Given the description of an element on the screen output the (x, y) to click on. 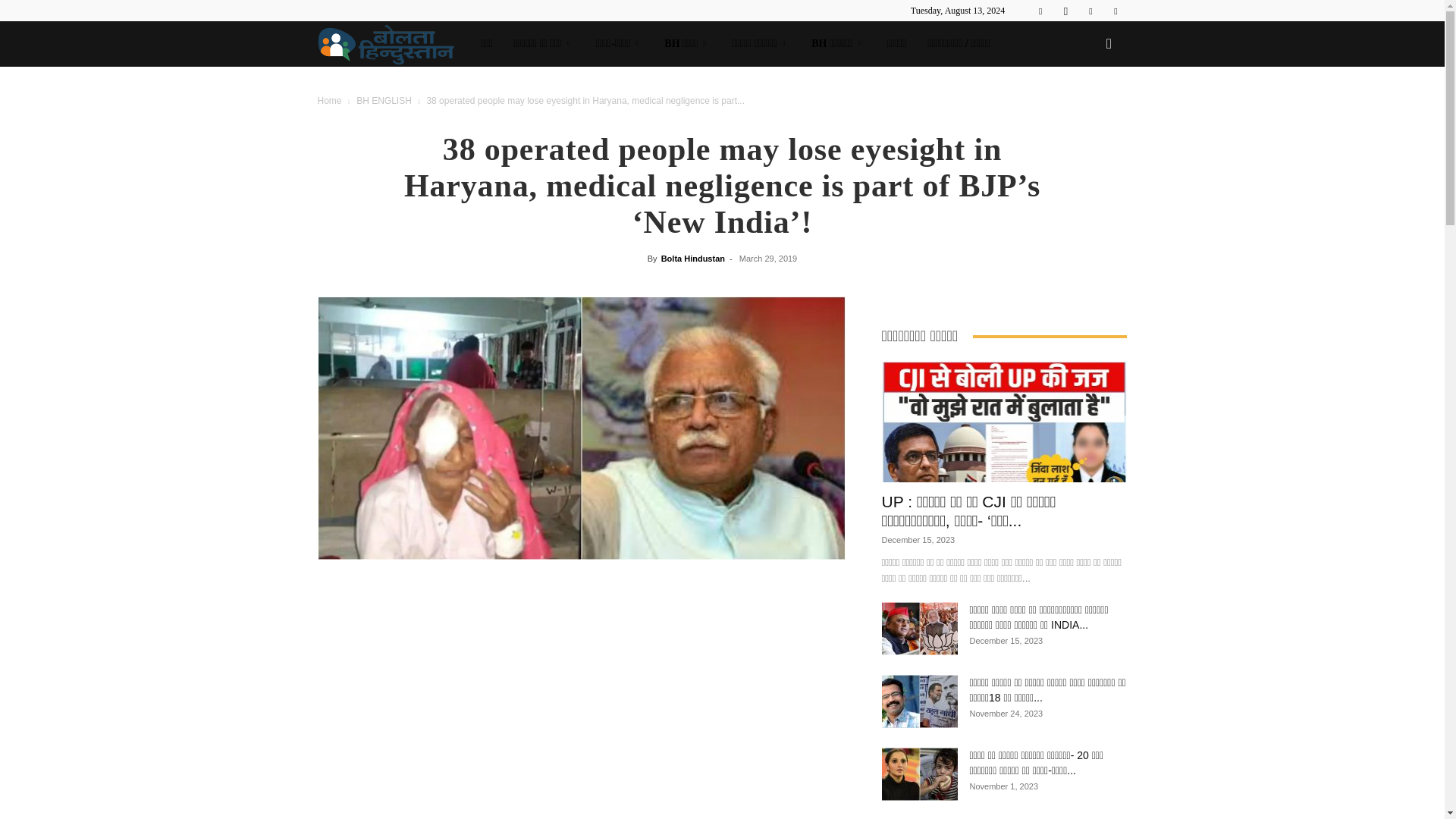
Bolta Hindustan (393, 44)
Twitter (1114, 10)
Facebook (1040, 10)
Linkedin (1090, 10)
Instagram (1065, 10)
